Given the description of an element on the screen output the (x, y) to click on. 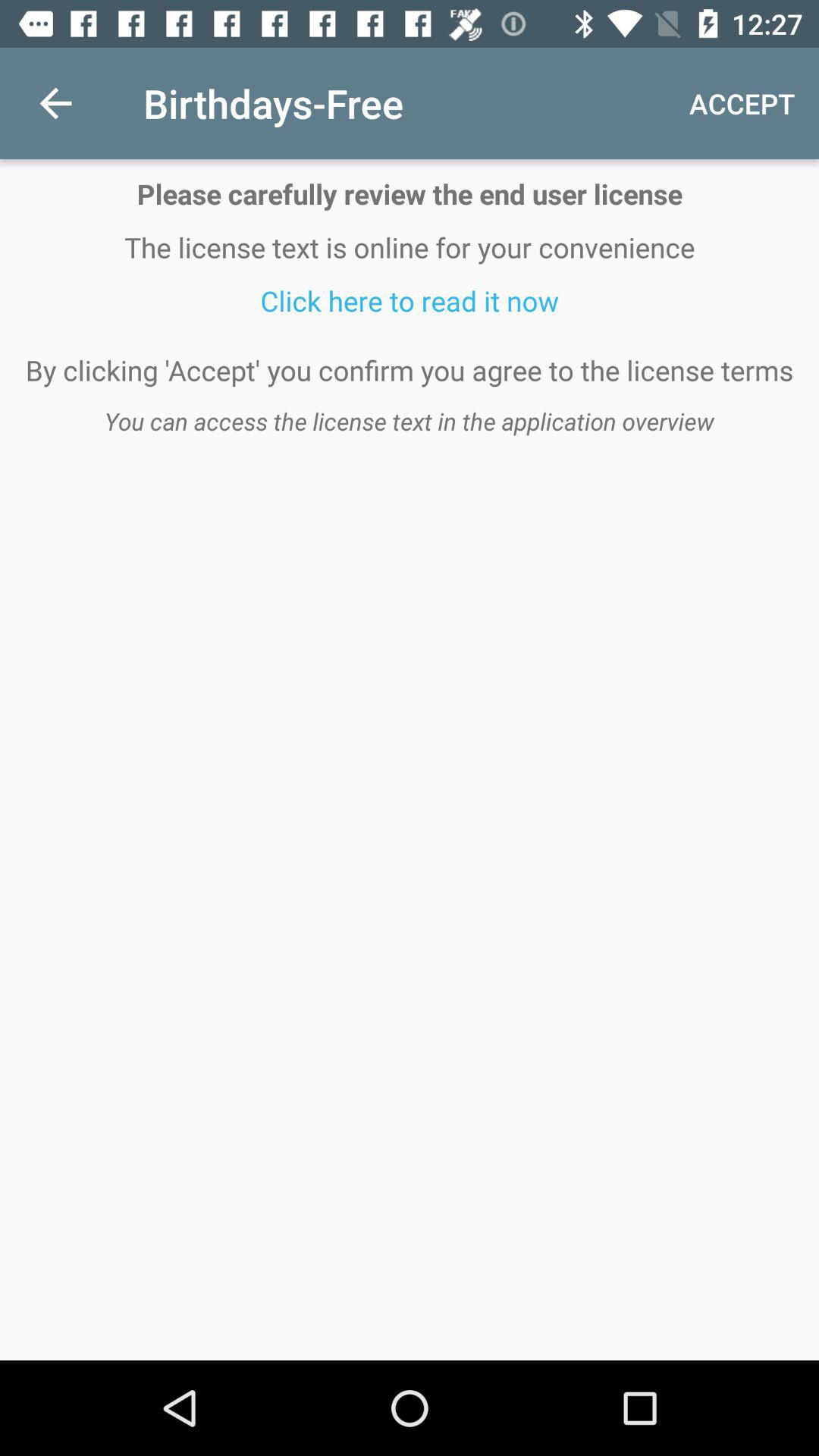
launch icon below the license text (409, 300)
